Given the description of an element on the screen output the (x, y) to click on. 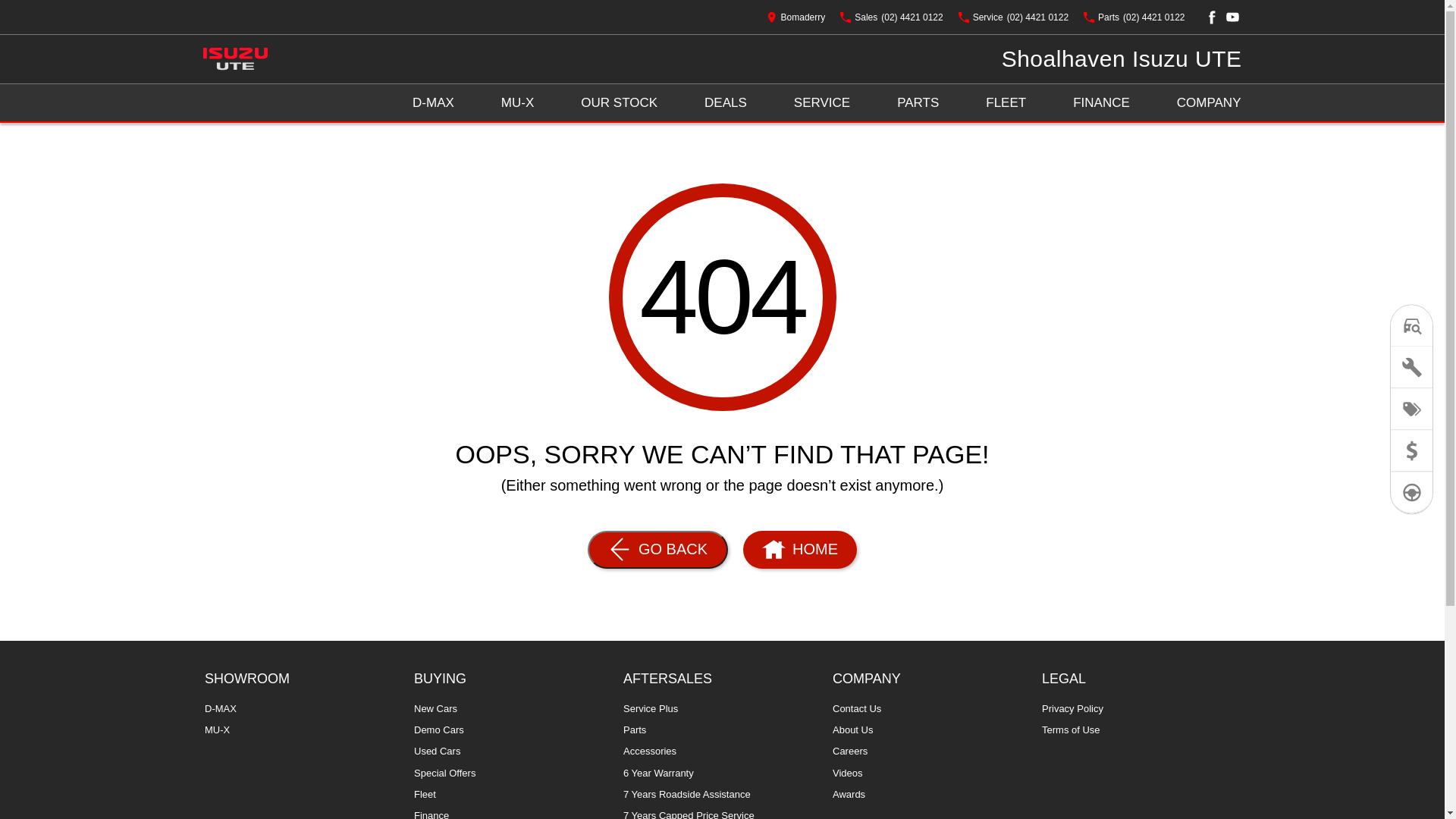
D-MAX Element type: text (220, 712)
New Cars Element type: text (435, 712)
Contact Us Element type: text (856, 712)
FLEET Element type: text (1005, 102)
SERVICE Element type: text (821, 102)
Privacy Policy Element type: text (1072, 712)
Special Offers Element type: text (444, 776)
DEALS Element type: text (725, 102)
Careers Element type: text (849, 754)
Accessories Element type: text (649, 754)
MU-X Element type: text (517, 102)
Service Plus Element type: text (650, 712)
FINANCE Element type: text (1101, 102)
Service
(02) 4421 0122 Element type: text (1013, 16)
Sales
(02) 4421 0122 Element type: text (891, 16)
GO BACK Element type: text (657, 549)
About Us Element type: text (852, 733)
Shoalhaven Isuzu UTE Element type: text (1121, 59)
Awards Element type: text (848, 794)
COMPANY Element type: text (1208, 102)
Fleet Element type: text (425, 798)
Parts Element type: text (634, 733)
D-MAX Element type: text (433, 102)
Demo Cars Element type: text (439, 733)
Parts
(02) 4421 0122 Element type: text (1133, 16)
Terms of Use Element type: text (1070, 730)
MU-X Element type: text (216, 730)
7 Years Roadside Assistance Element type: text (686, 798)
Videos Element type: text (847, 776)
HOME Element type: text (799, 549)
6 Year Warranty Element type: text (658, 776)
OUR STOCK Element type: text (618, 102)
Used Cars Element type: text (437, 754)
PARTS Element type: text (917, 102)
Bomaderry Element type: text (795, 16)
